Given the description of an element on the screen output the (x, y) to click on. 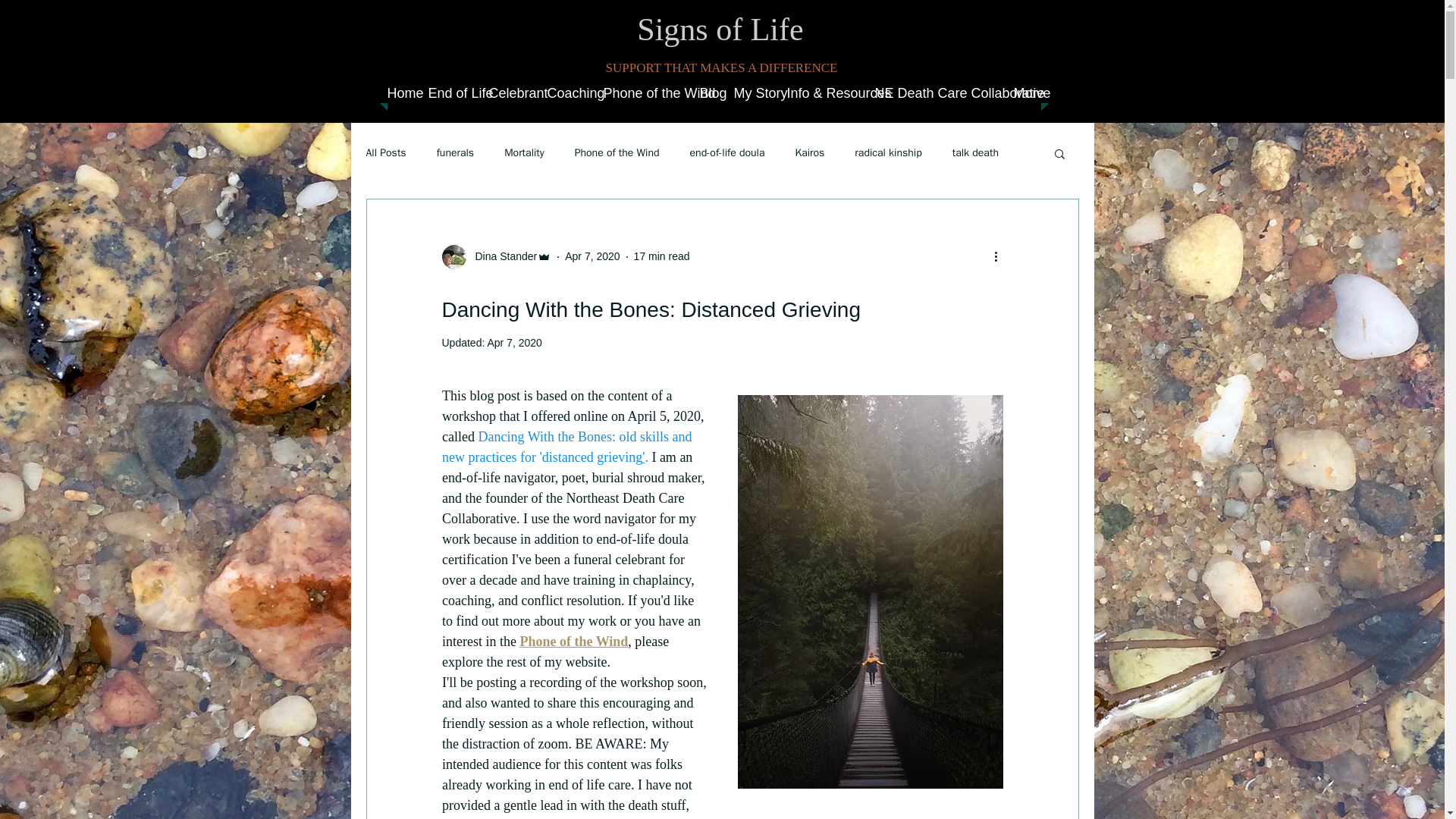
NE Death Care Collaborative (936, 92)
17 min read (661, 256)
Dina Stander (501, 256)
end-of-life doula (727, 151)
End of Life (450, 92)
talk death (975, 151)
Phone of the Wind (617, 151)
Mortality (523, 151)
radical kinship (887, 151)
Blog (708, 92)
